Given the description of an element on the screen output the (x, y) to click on. 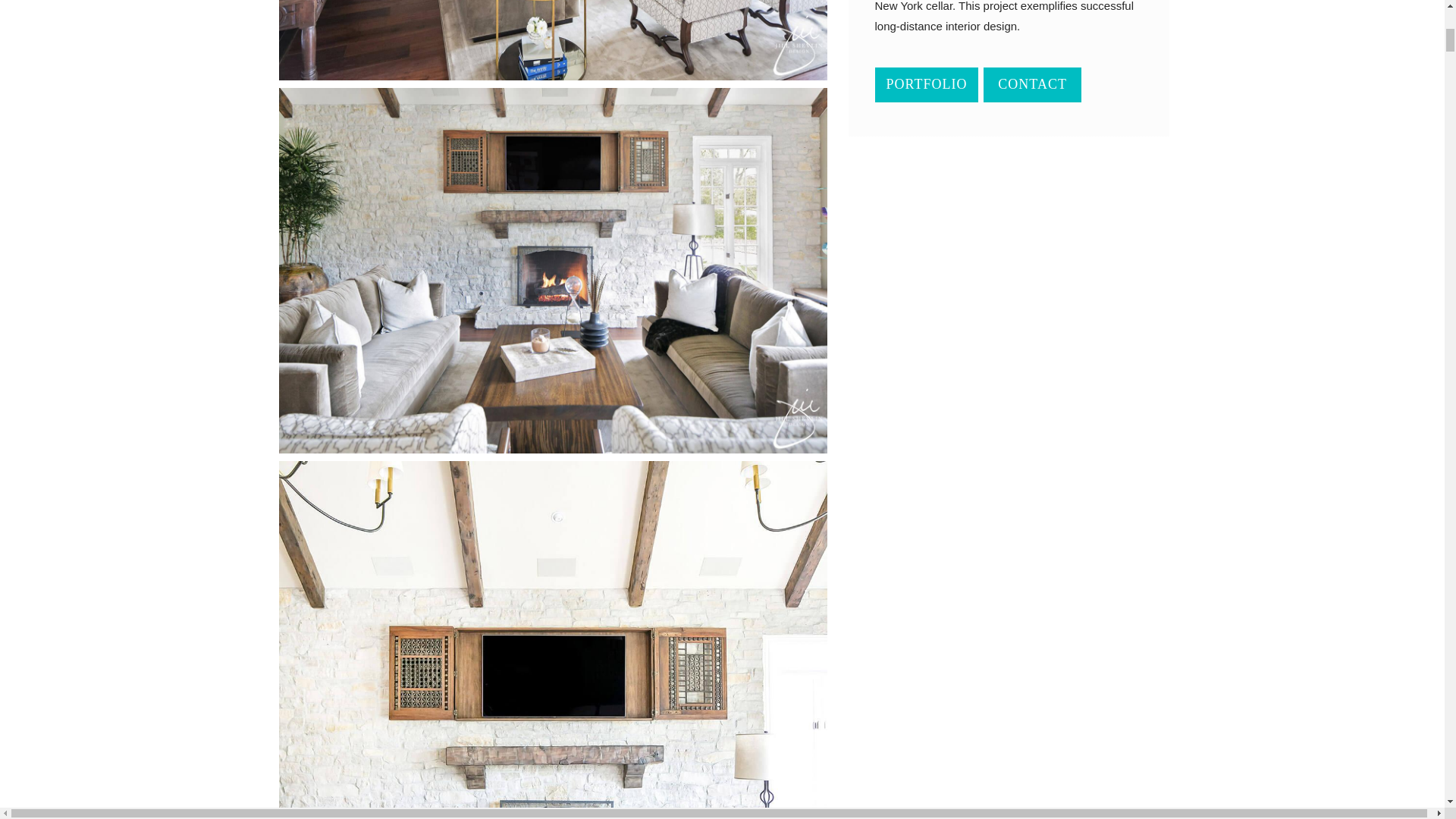
PORTFOLIO (926, 84)
1-RGP-2319 (553, 40)
CONTACT (1032, 84)
